Given the description of an element on the screen output the (x, y) to click on. 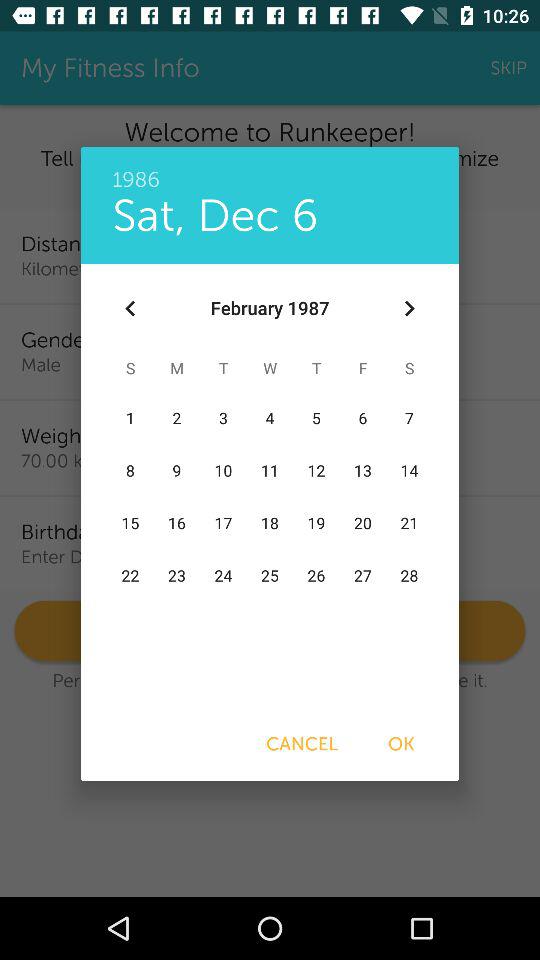
choose icon at the top right corner (408, 308)
